Given the description of an element on the screen output the (x, y) to click on. 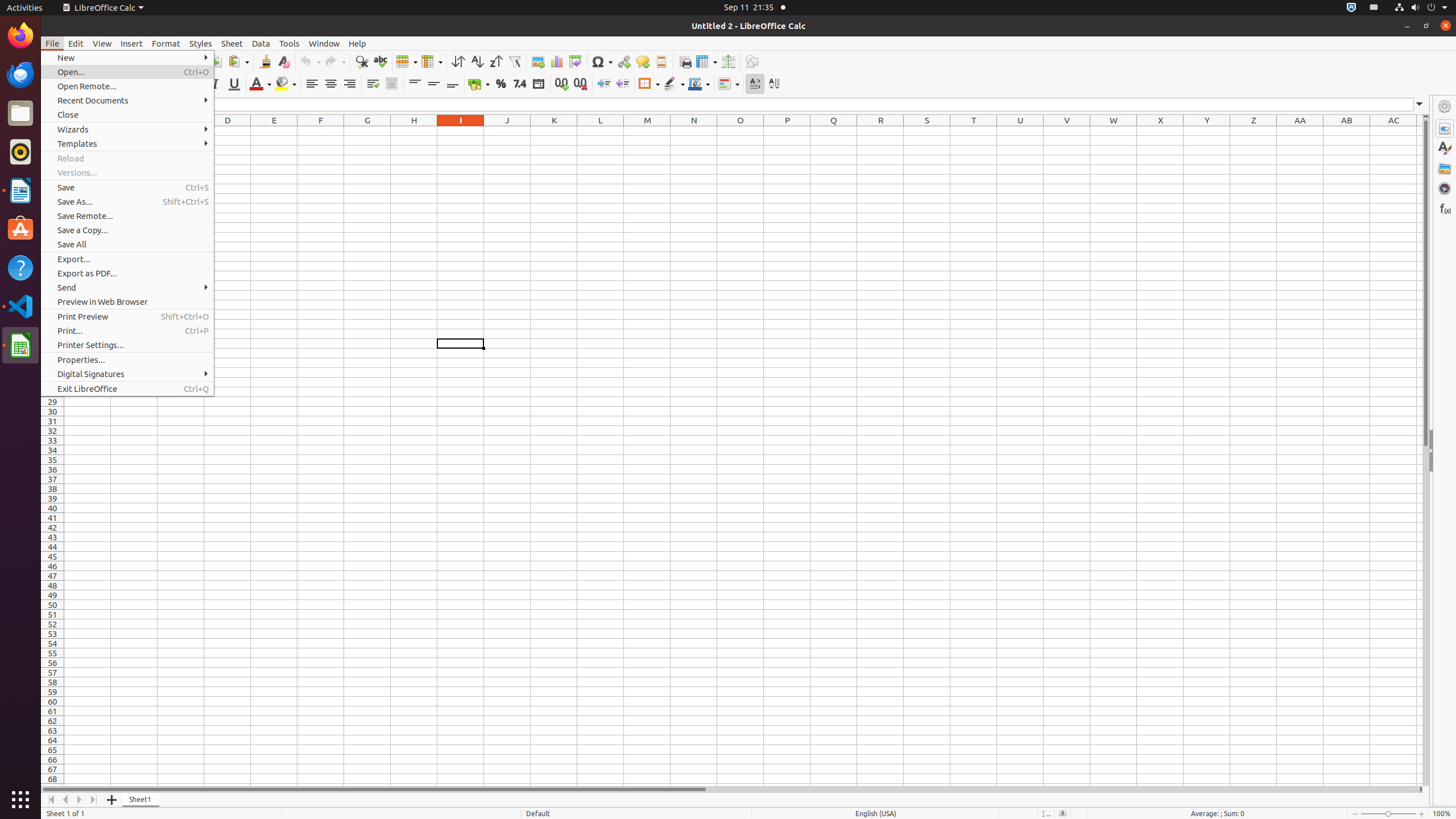
Move Right Element type: push-button (79, 799)
Sort Descending Element type: push-button (495, 61)
Column Element type: push-button (431, 61)
Redo Element type: push-button (334, 61)
Symbol Element type: push-button (601, 61)
